Given the description of an element on the screen output the (x, y) to click on. 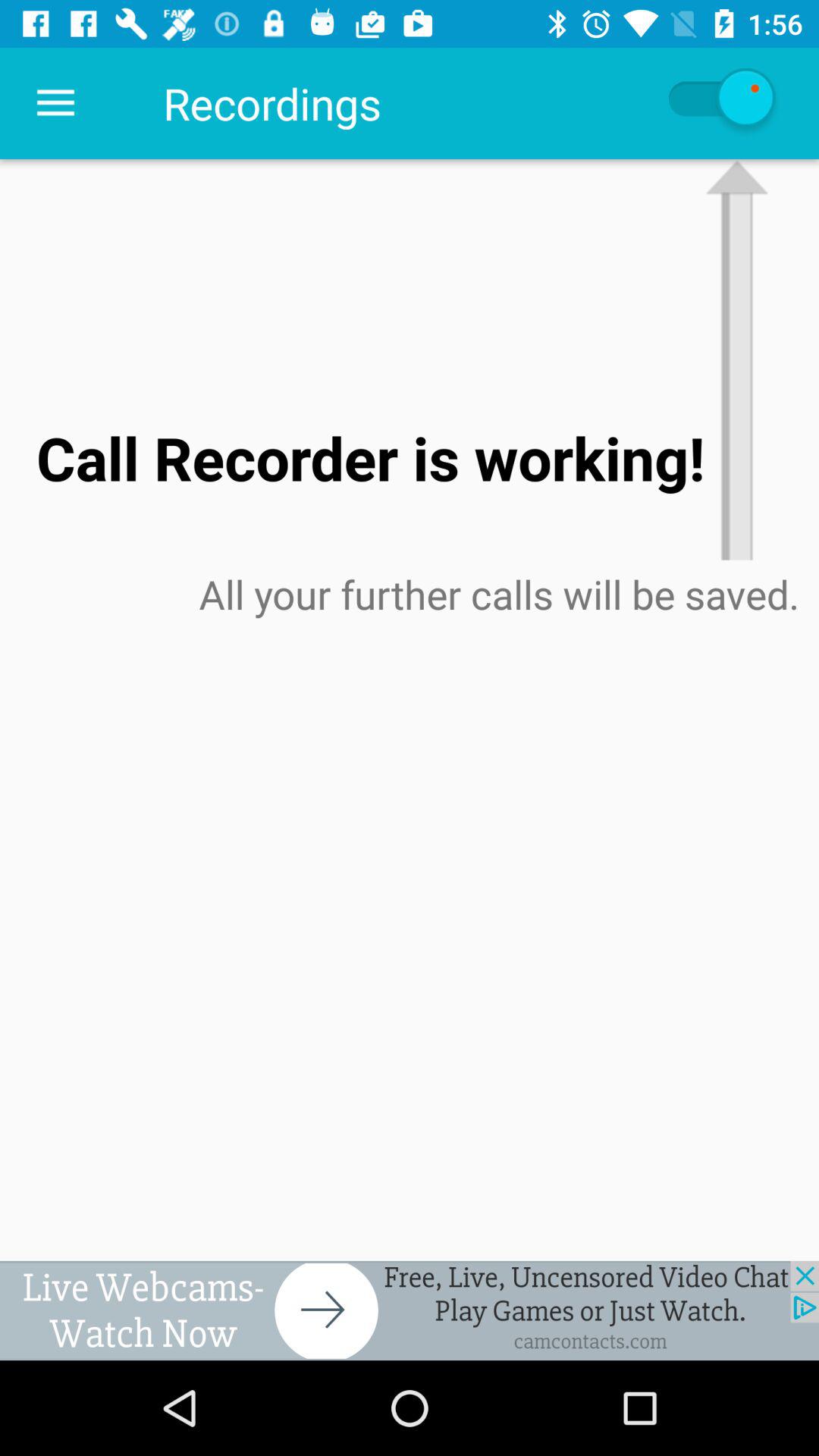
auto refresh (719, 103)
